Given the description of an element on the screen output the (x, y) to click on. 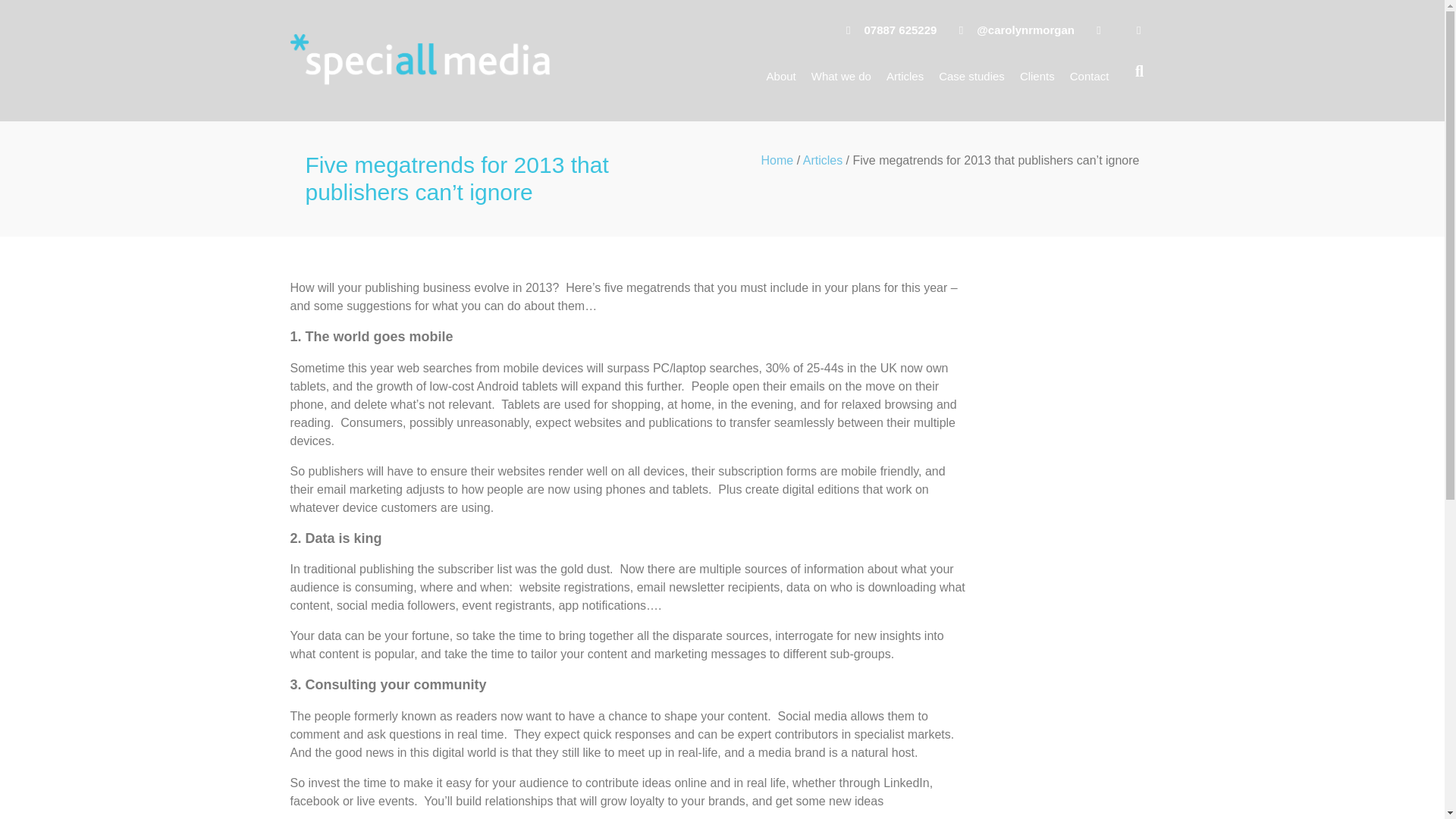
Contact (1089, 76)
07887 625229 (886, 30)
Articles (823, 160)
Clients (1036, 76)
Articles (905, 76)
Case studies (971, 76)
About (780, 76)
What we do (841, 76)
Home (777, 160)
